Given the description of an element on the screen output the (x, y) to click on. 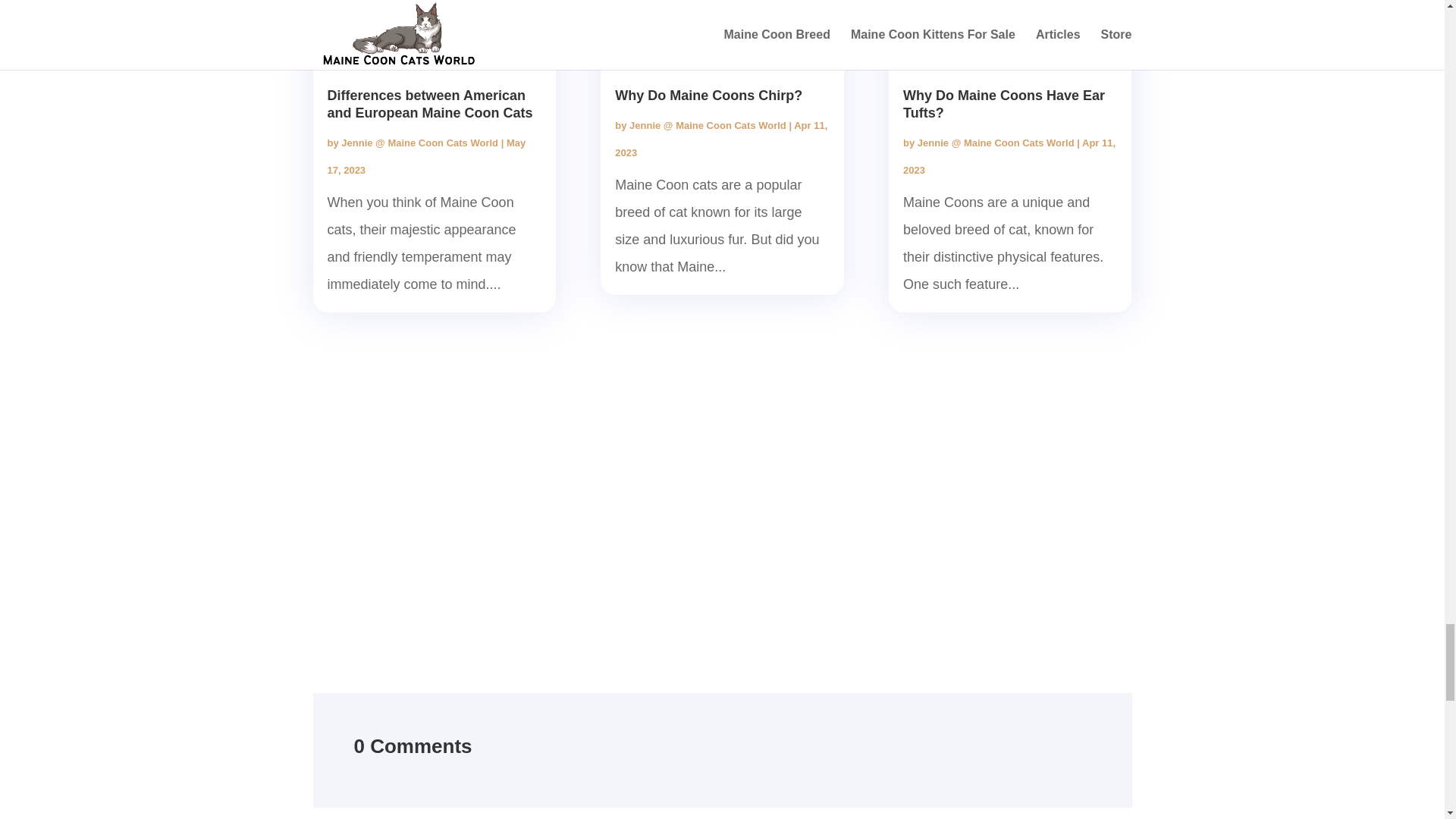
Why Do Maine Coons Have Ear Tufts? (1003, 103)
Differences between American and European Maine Coon Cats (429, 103)
Why Do Maine Coons Chirp? (708, 95)
